Given the description of an element on the screen output the (x, y) to click on. 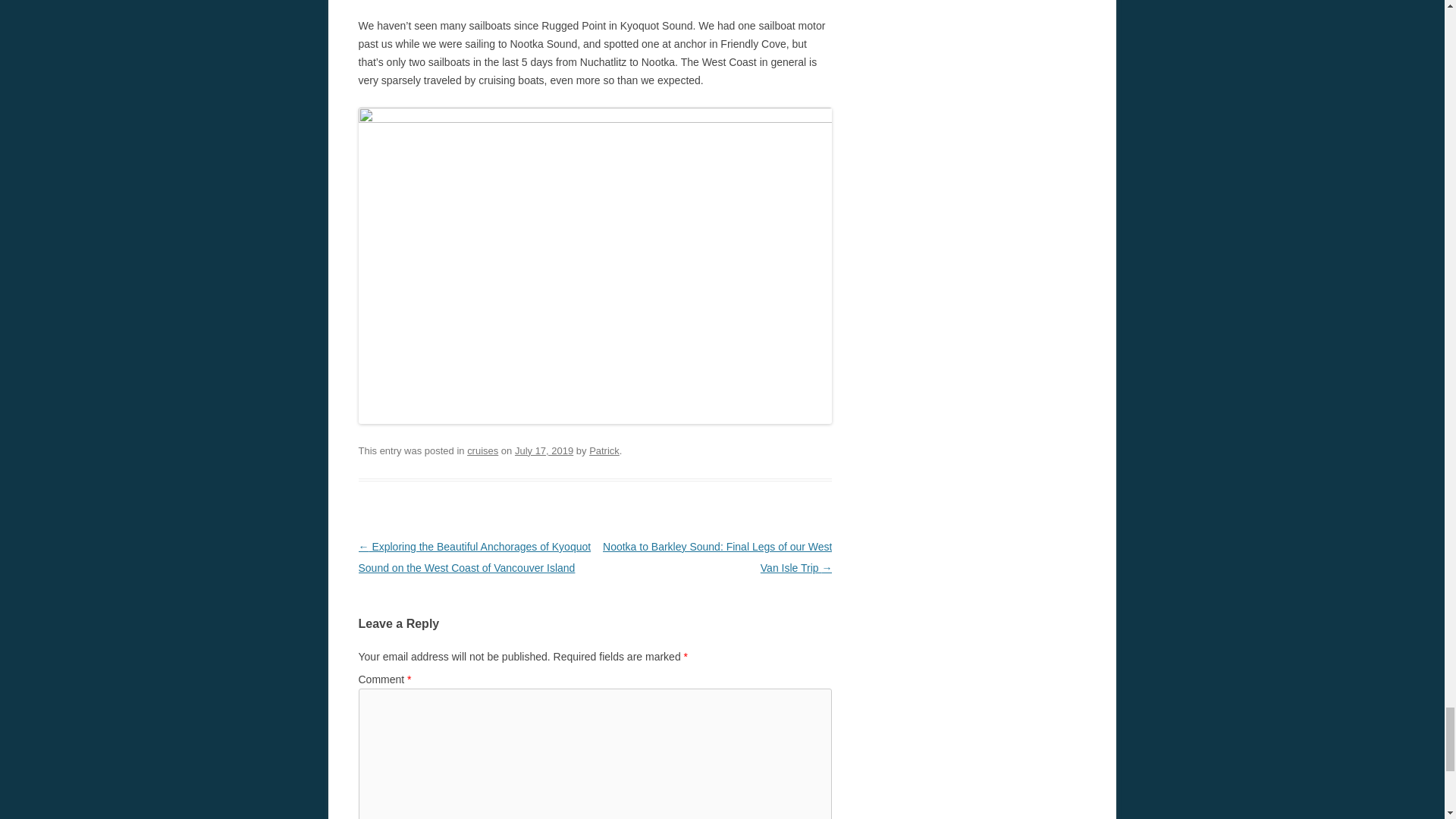
cruises (482, 450)
July 17, 2019 (544, 450)
View all posts by Patrick (604, 450)
Patrick (604, 450)
12:00 pm (544, 450)
